Given the description of an element on the screen output the (x, y) to click on. 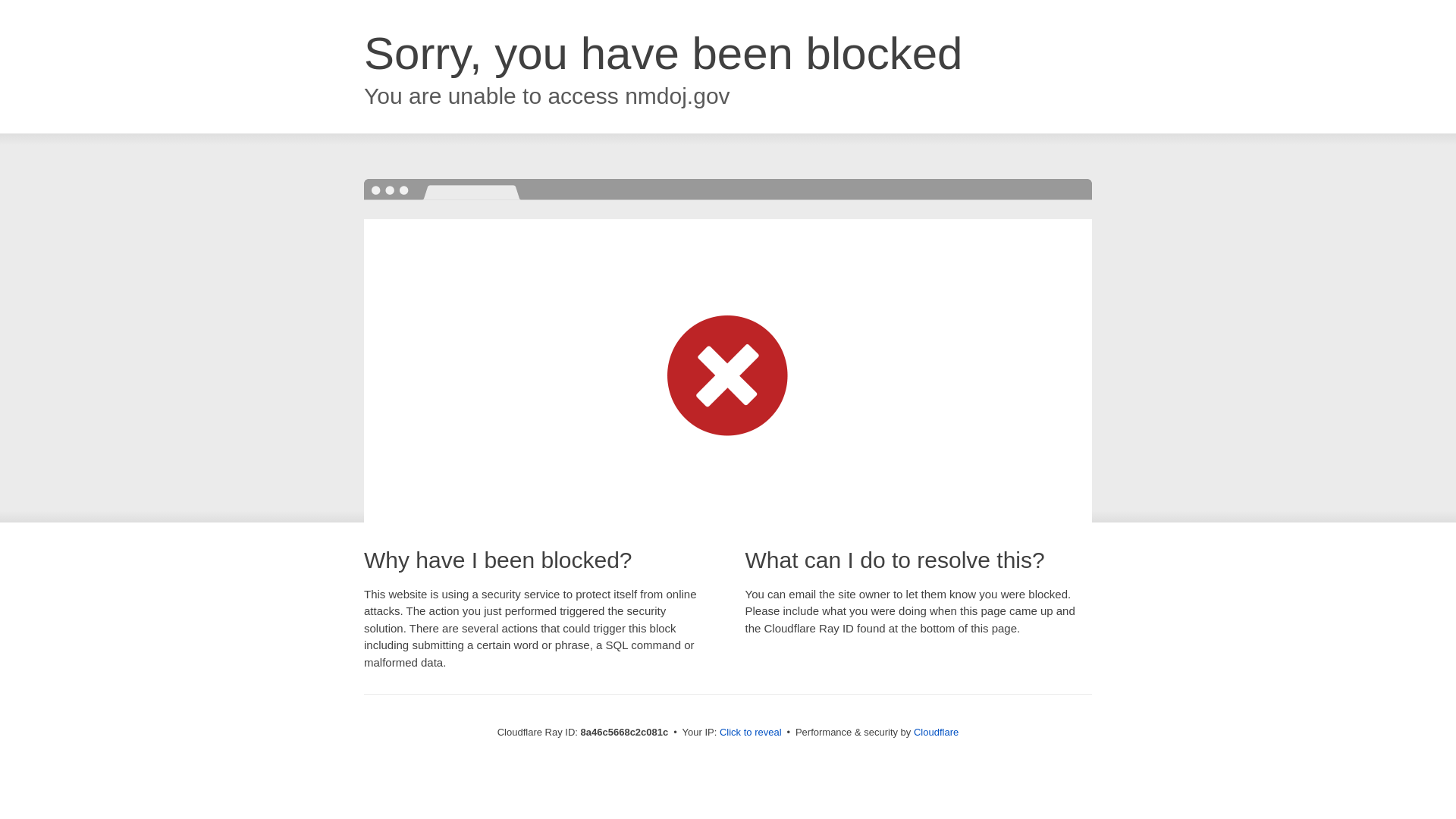
Cloudflare (936, 731)
Click to reveal (750, 732)
